Given the description of an element on the screen output the (x, y) to click on. 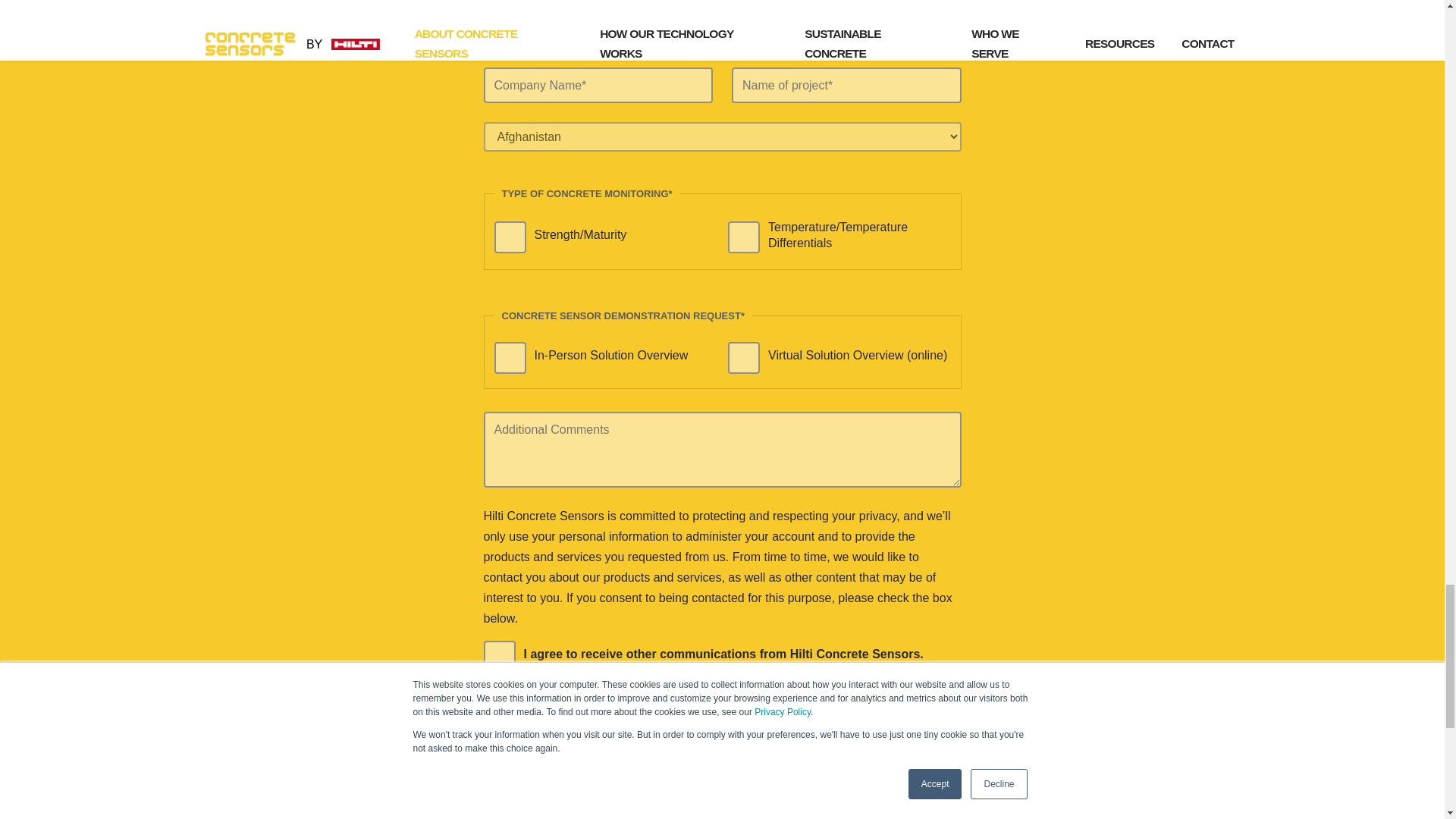
Privacy Policy (753, 744)
